Given the description of an element on the screen output the (x, y) to click on. 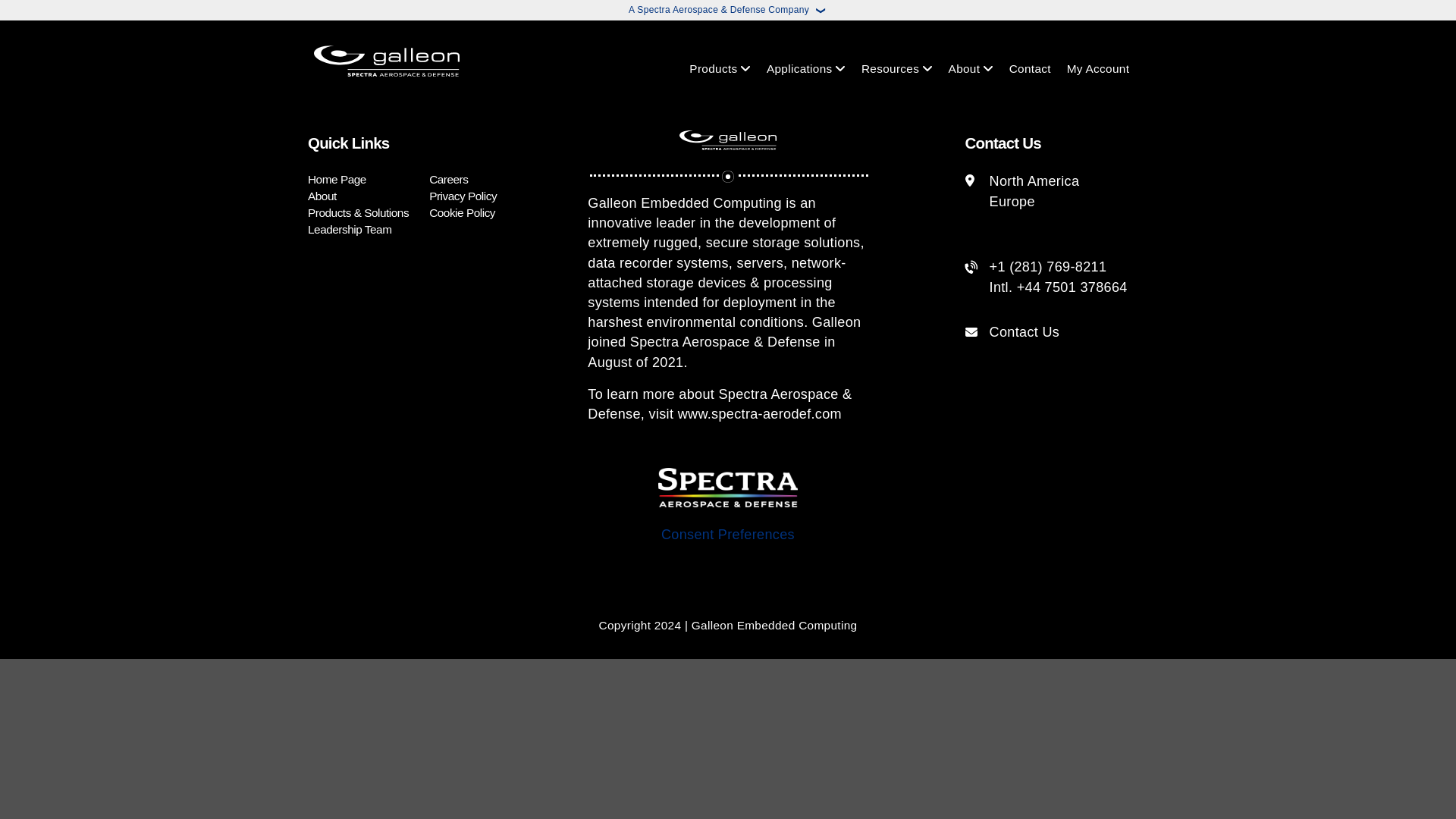
Products (712, 68)
Galleon Embedded Computing (387, 56)
Galleon Embedded Computing (727, 140)
